Given the description of an element on the screen output the (x, y) to click on. 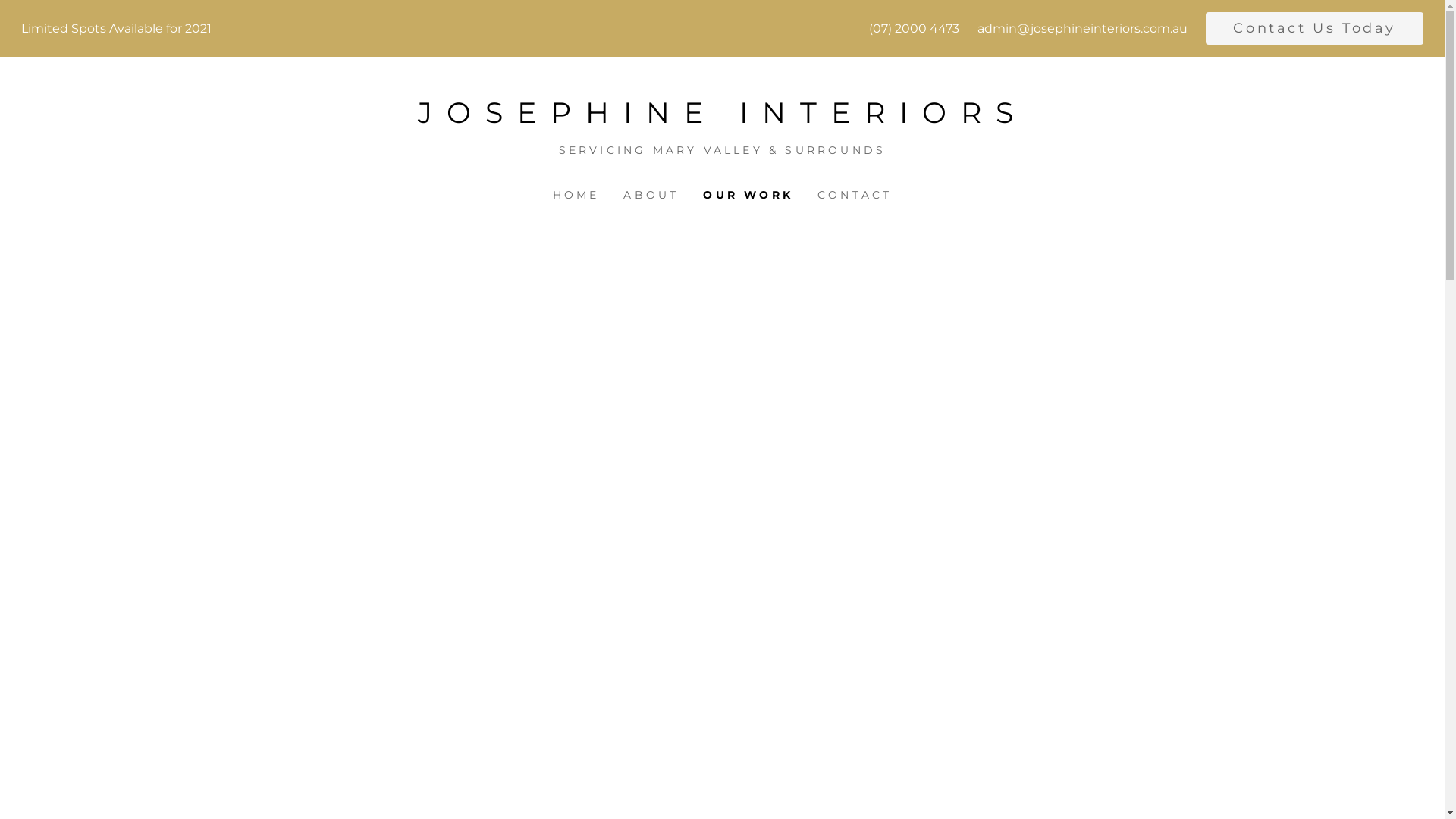
OUR WORK Element type: text (747, 194)
Contact Us Today Element type: text (1314, 28)
CONTACT Element type: text (854, 194)
admin@josephineinteriors.com.au Element type: text (1082, 28)
Skip to main content Element type: text (12, 12)
ABOUT Element type: text (650, 194)
HOME Element type: text (575, 194)
JOSEPHINE INTERIORS
SERVICING MARY VALLEY & SURROUNDS Element type: text (722, 119)
(07) 2000 4473 Element type: text (914, 28)
